Given the description of an element on the screen output the (x, y) to click on. 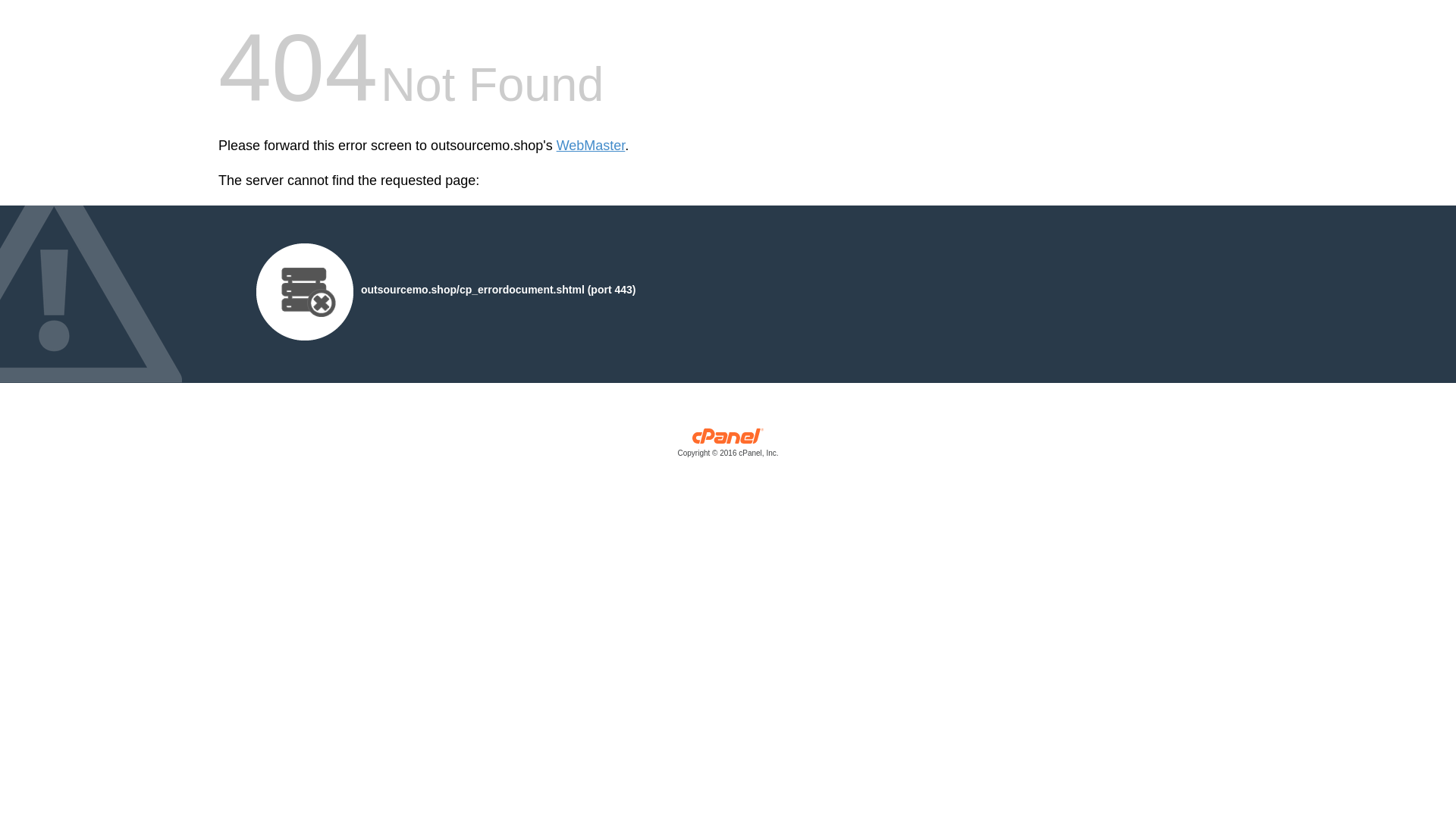
WebMaster (591, 145)
cPanel, Inc. (727, 446)
